Given the description of an element on the screen output the (x, y) to click on. 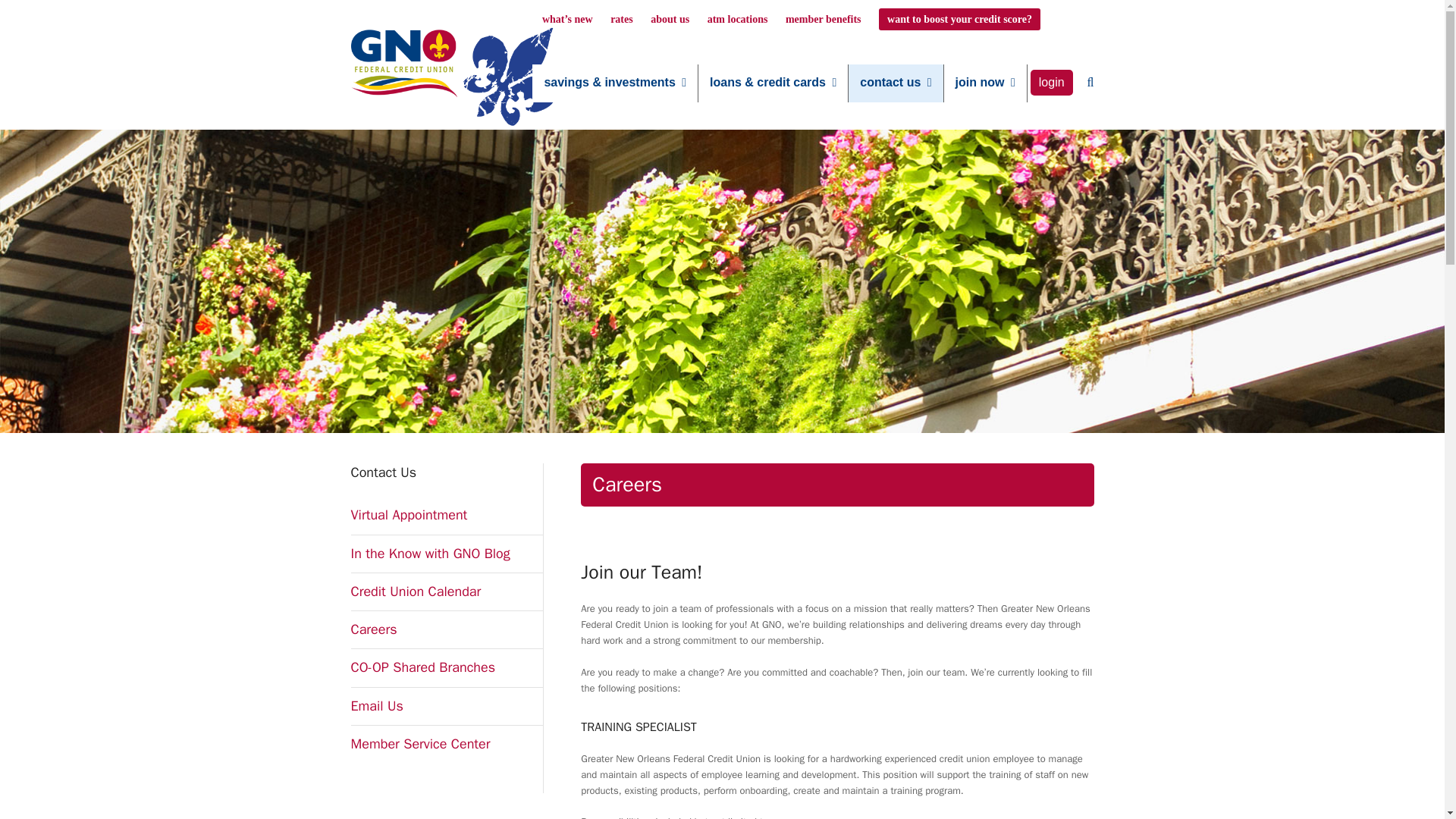
contact us (895, 83)
atm locations (737, 19)
rates (621, 19)
want to boost your credit score? (960, 19)
join now (984, 83)
about us (669, 19)
member benefits (823, 19)
login (1051, 83)
